Given the description of an element on the screen output the (x, y) to click on. 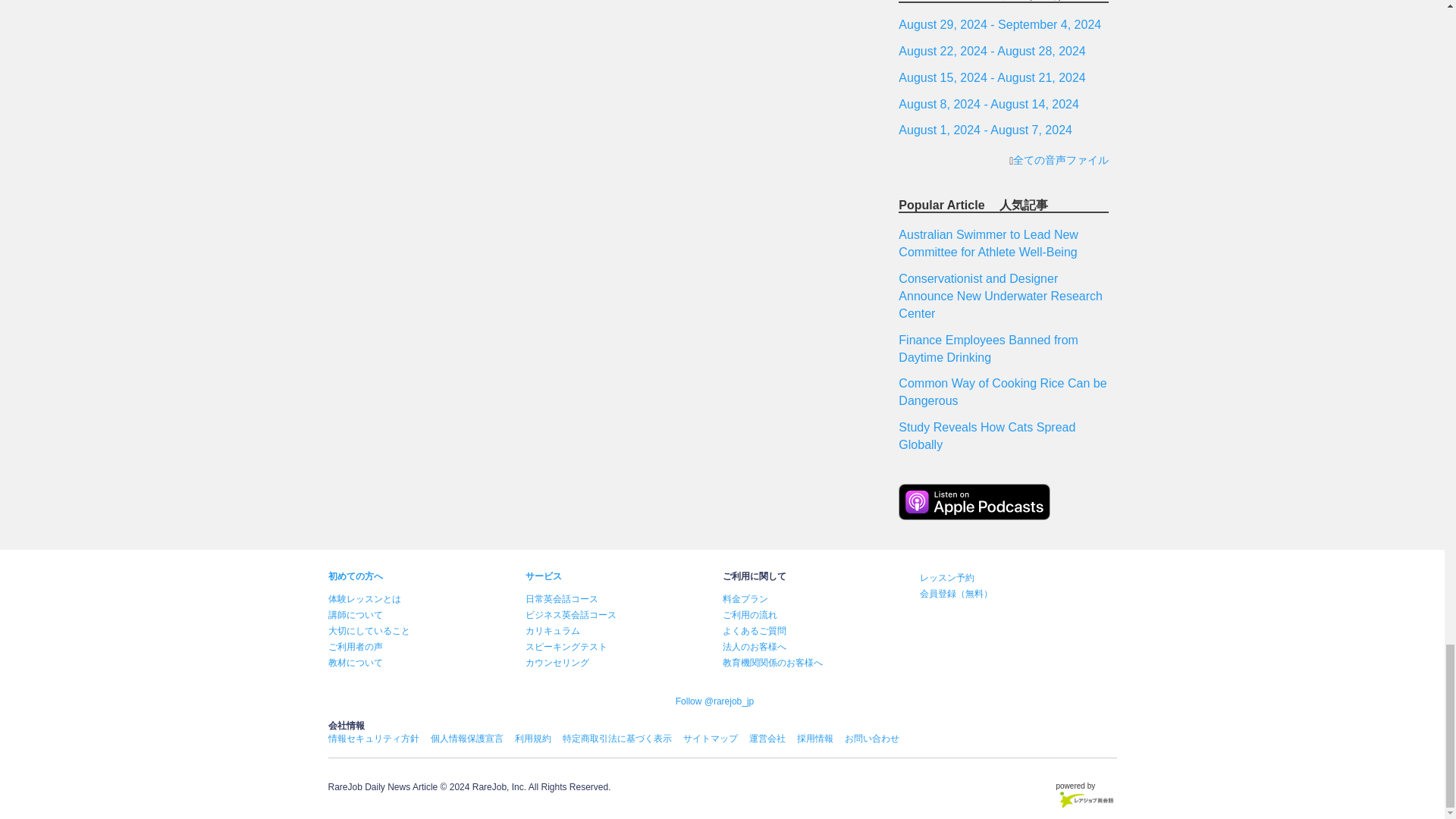
Finance Employees Banned from Daytime Drinking (988, 348)
Common Way of Cooking Rice Can be Dangerous (1002, 391)
Study Reveals How Cats Spread Globally (986, 435)
